Given the description of an element on the screen output the (x, y) to click on. 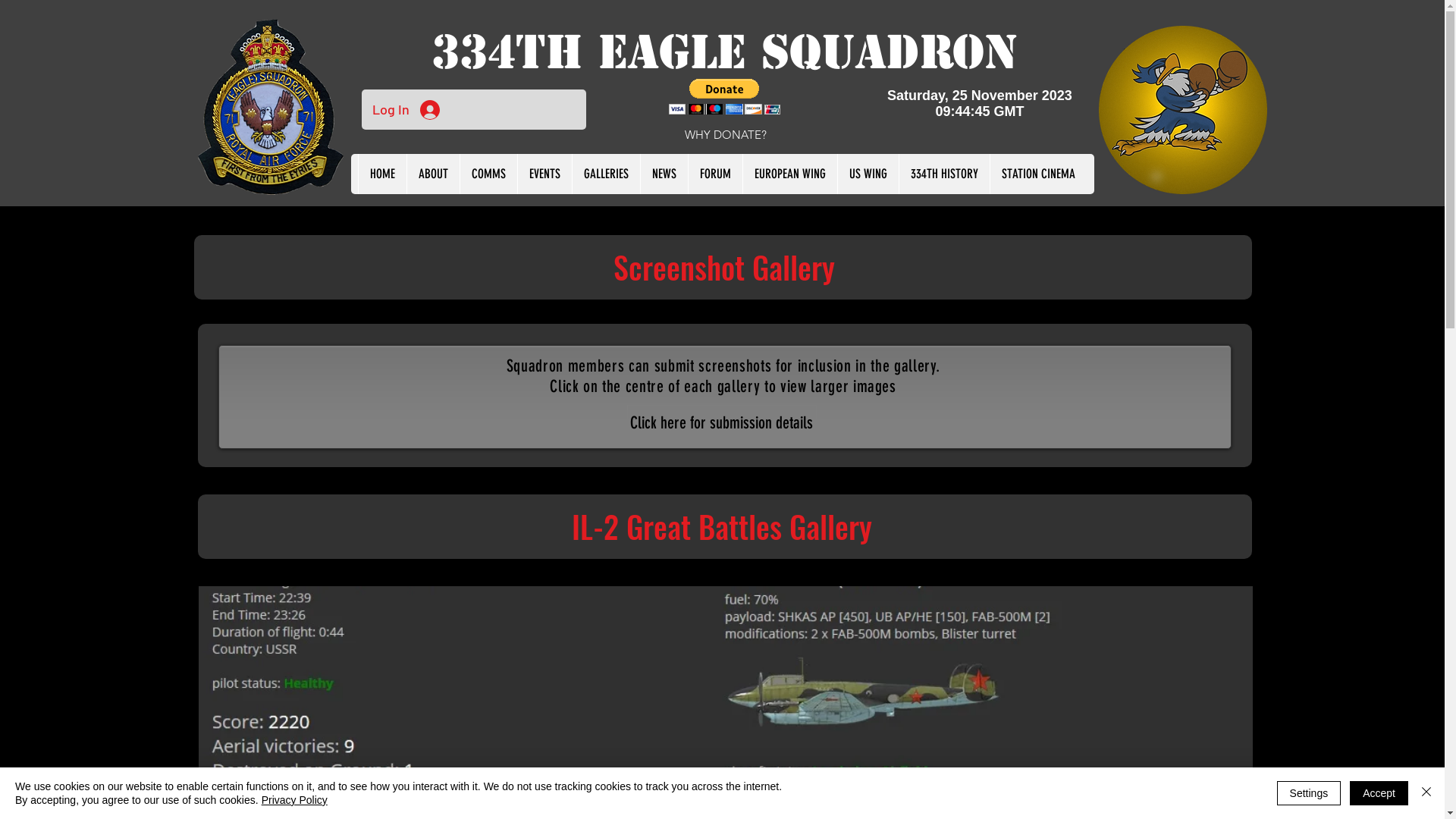
Embedded Content Element type: hover (983, 109)
ABOUT Element type: text (432, 173)
Click here for submission details Element type: text (720, 421)
Log In Element type: text (404, 109)
Accept Element type: text (1378, 793)
WHY DONATE? Element type: text (725, 134)
COMMS Element type: text (488, 173)
Privacy Policy Element type: text (294, 799)
NEWS Element type: text (663, 173)
Settings Element type: text (1309, 793)
HOME Element type: text (381, 173)
FORUM Element type: text (714, 173)
